Given the description of an element on the screen output the (x, y) to click on. 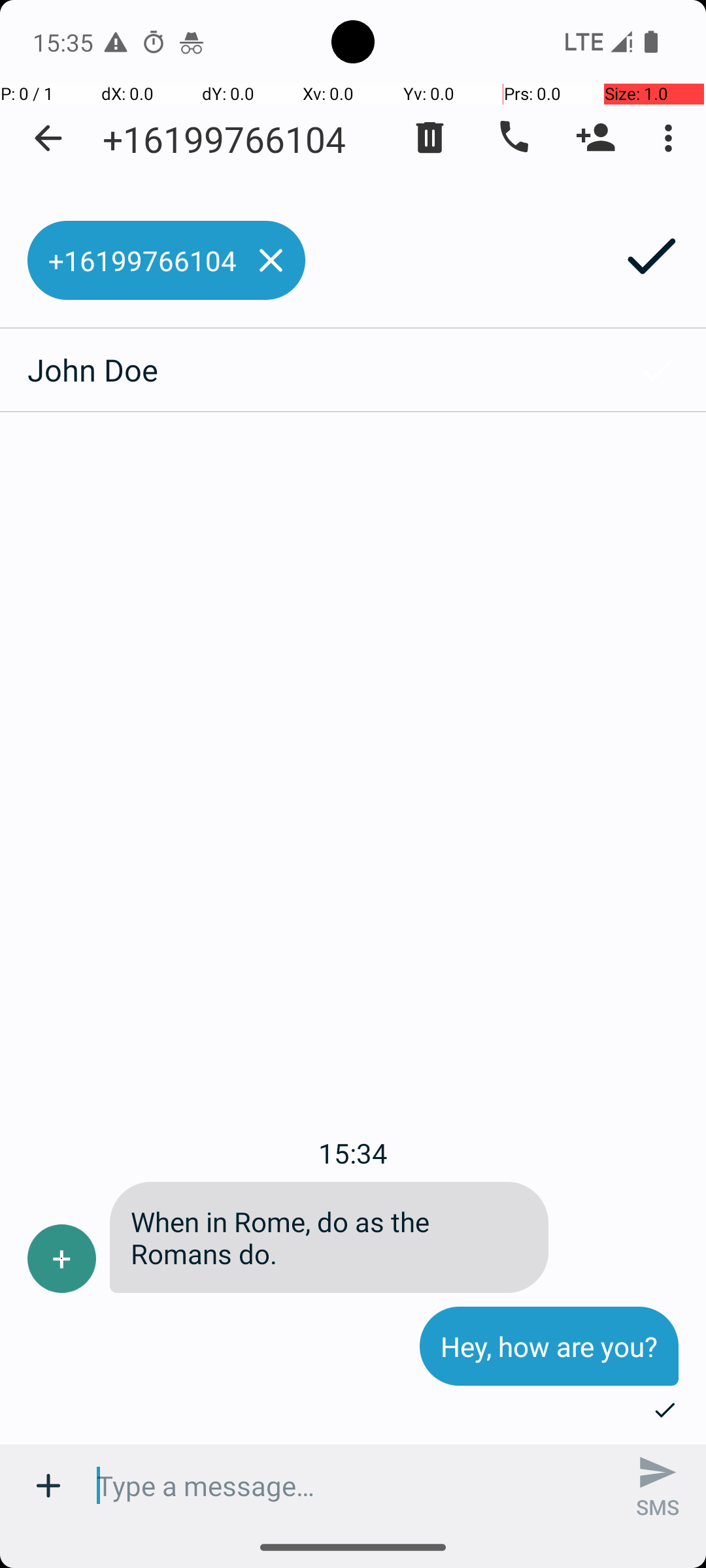
+16199766104 Element type: android.widget.TextView (223, 138)
John Doe Element type: android.widget.AutoCompleteTextView (304, 369)
Confirm selection Element type: android.widget.ImageView (657, 369)
When in Rome, do as the Romans do. Element type: android.widget.TextView (328, 1236)
Hey, how are you? Element type: android.widget.TextView (548, 1345)
